Given the description of an element on the screen output the (x, y) to click on. 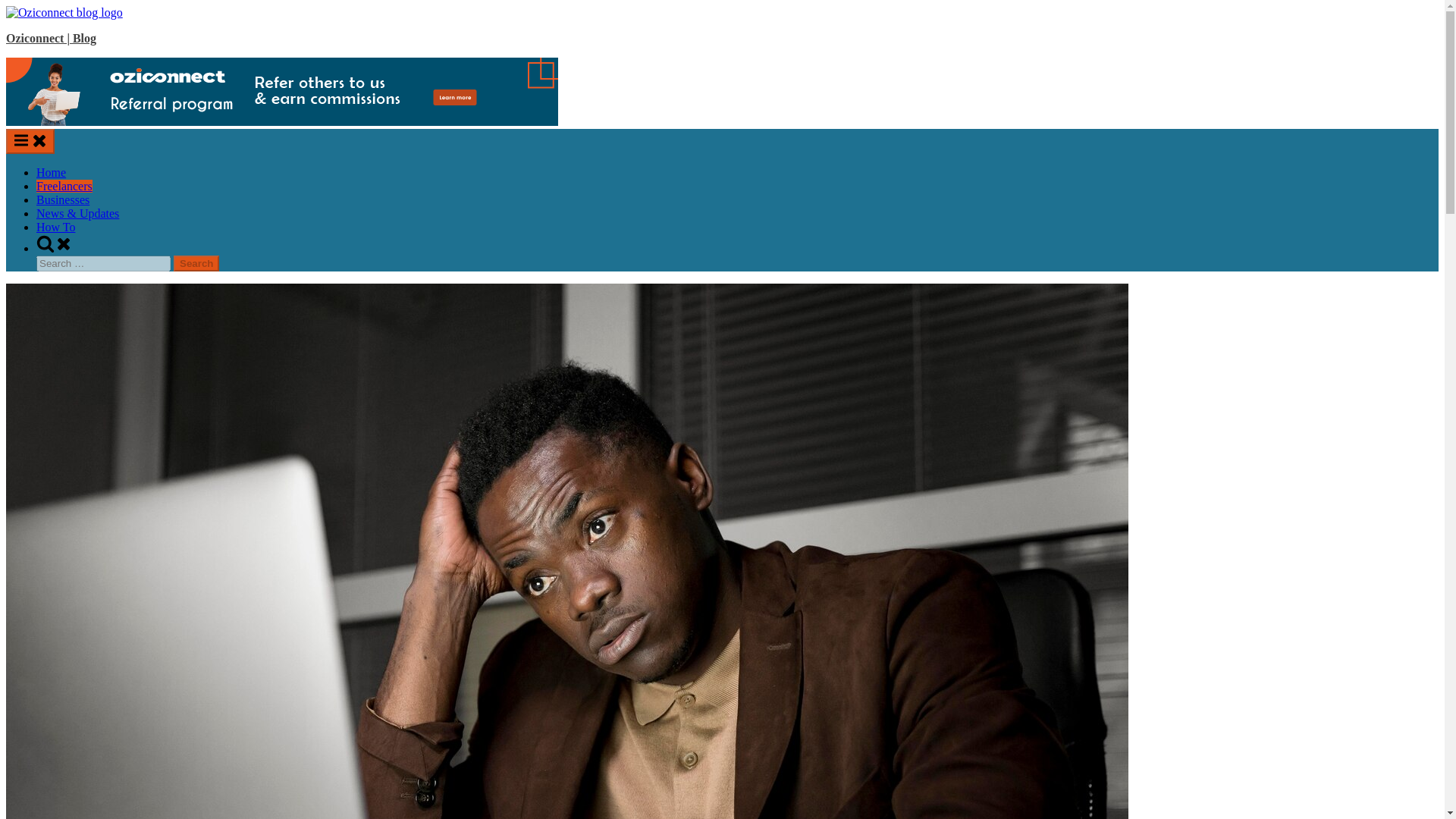
Toggle search form (54, 247)
Search (196, 263)
How To (55, 226)
Freelancers (64, 185)
Search (196, 263)
Home (50, 172)
Oziconnect Referral program (281, 121)
Search (196, 263)
Businesses (62, 199)
